Given the description of an element on the screen output the (x, y) to click on. 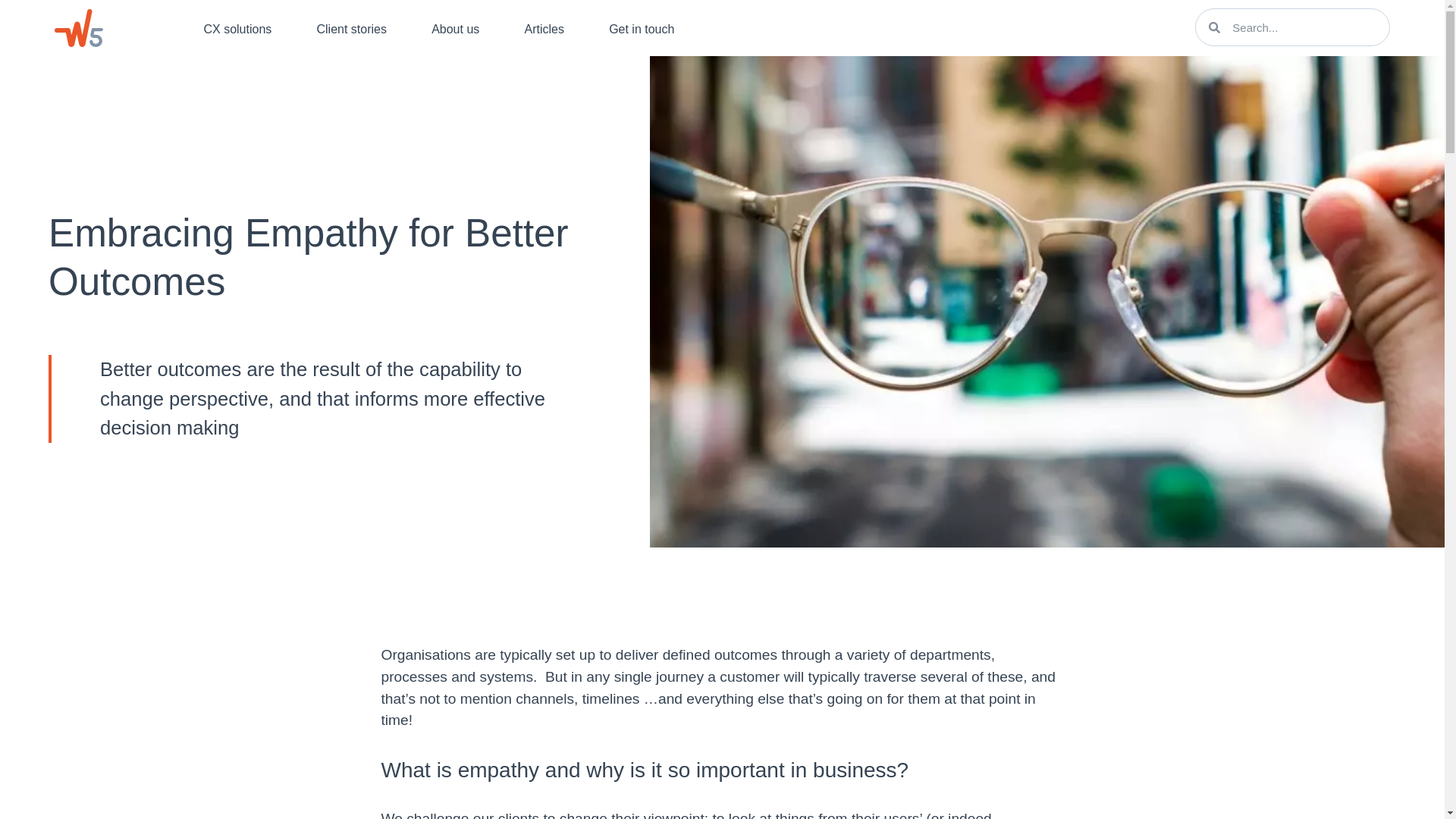
About us (455, 29)
Articles (543, 29)
Client stories (351, 29)
Get in touch (641, 29)
CX solutions (236, 29)
